Given the description of an element on the screen output the (x, y) to click on. 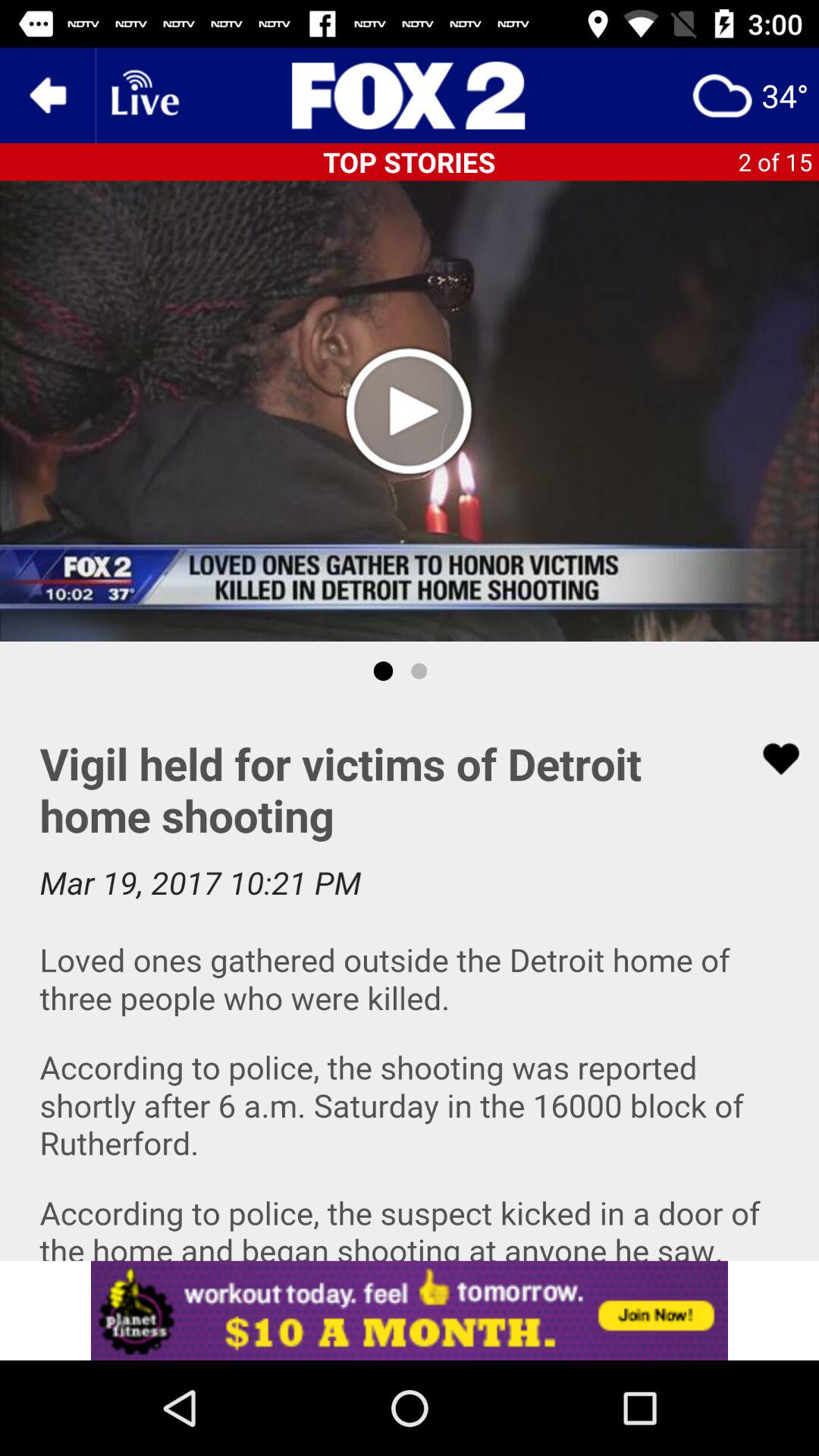
watch news live (143, 95)
